Given the description of an element on the screen output the (x, y) to click on. 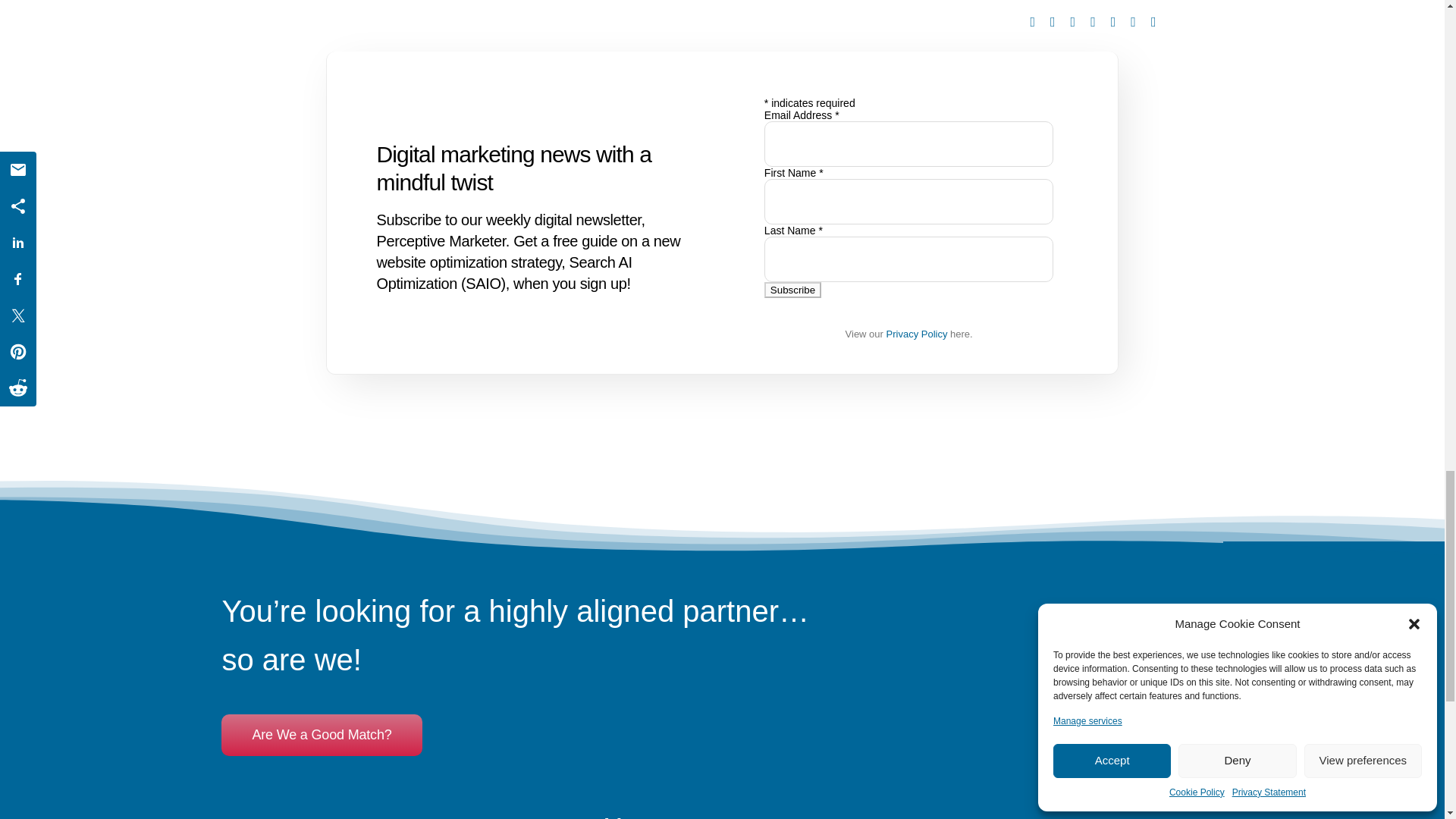
Subscribe (792, 289)
